Given the description of an element on the screen output the (x, y) to click on. 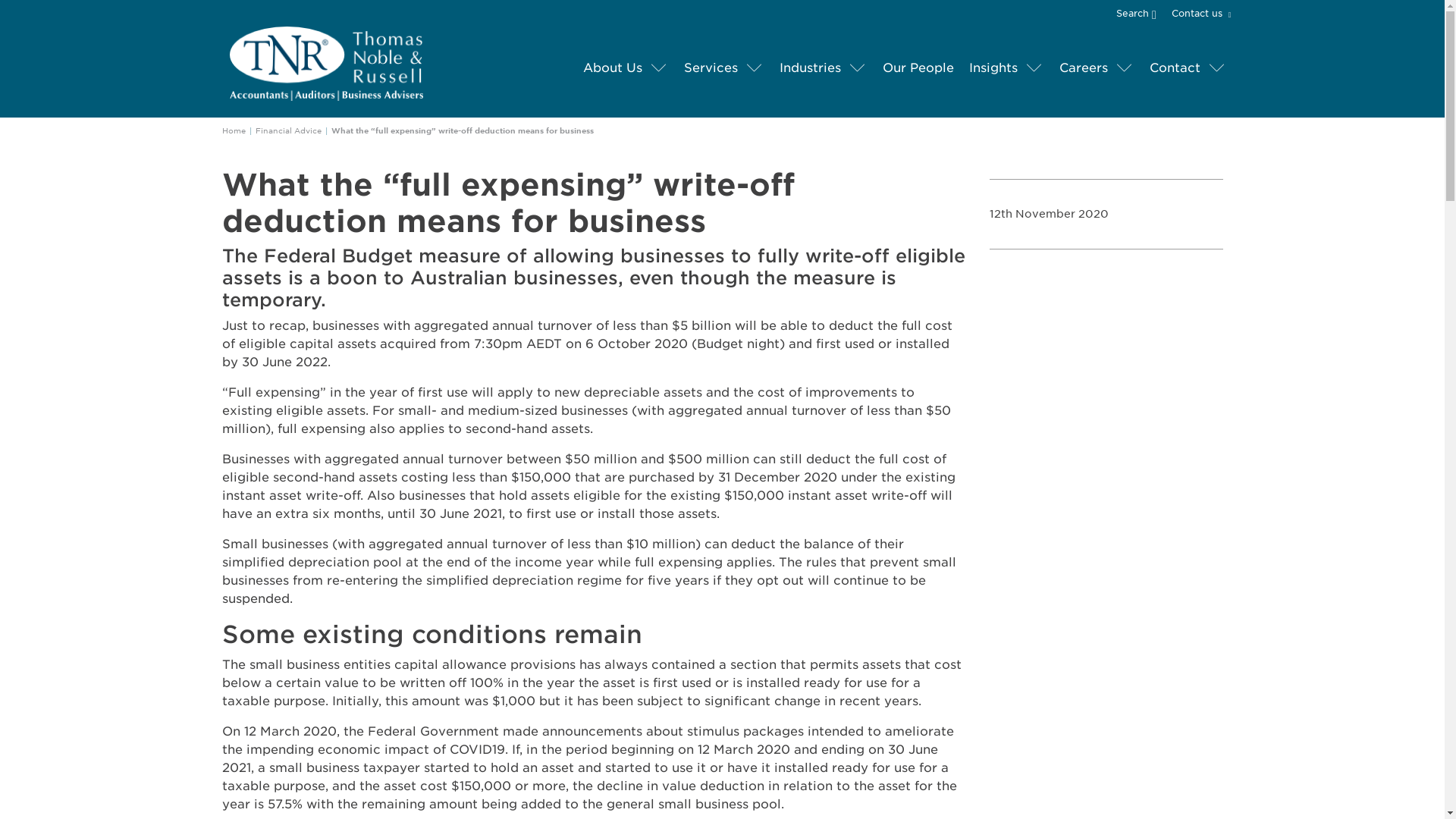
Insights (993, 68)
About Us (612, 68)
Search (1141, 12)
Contact us (1198, 13)
Our People (917, 68)
Home (232, 130)
Industries (809, 68)
Services (711, 68)
